Given the description of an element on the screen output the (x, y) to click on. 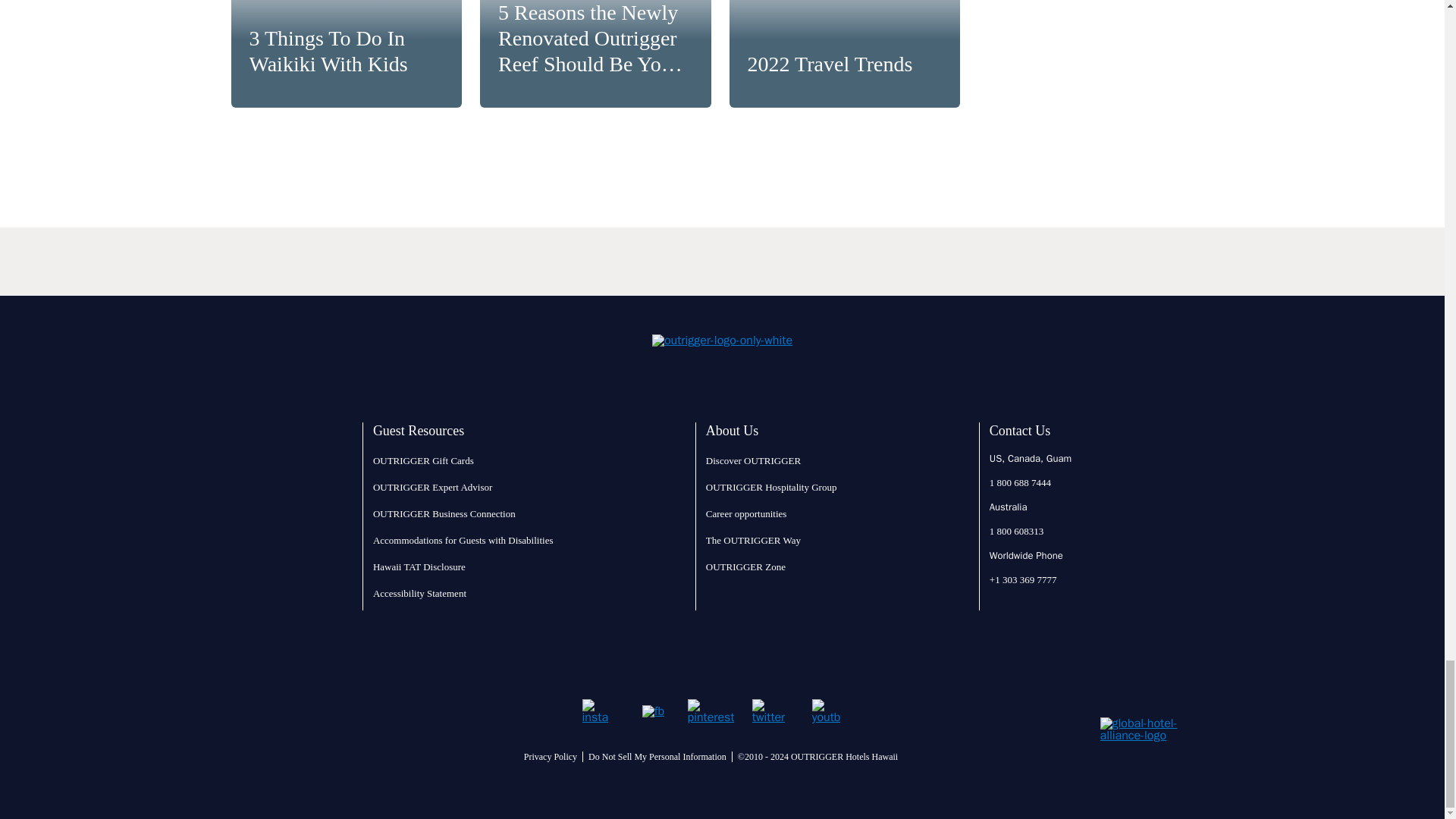
2022 Travel Trends (844, 53)
3 Things To Do In Waikiki With Kids (345, 53)
